Given the description of an element on the screen output the (x, y) to click on. 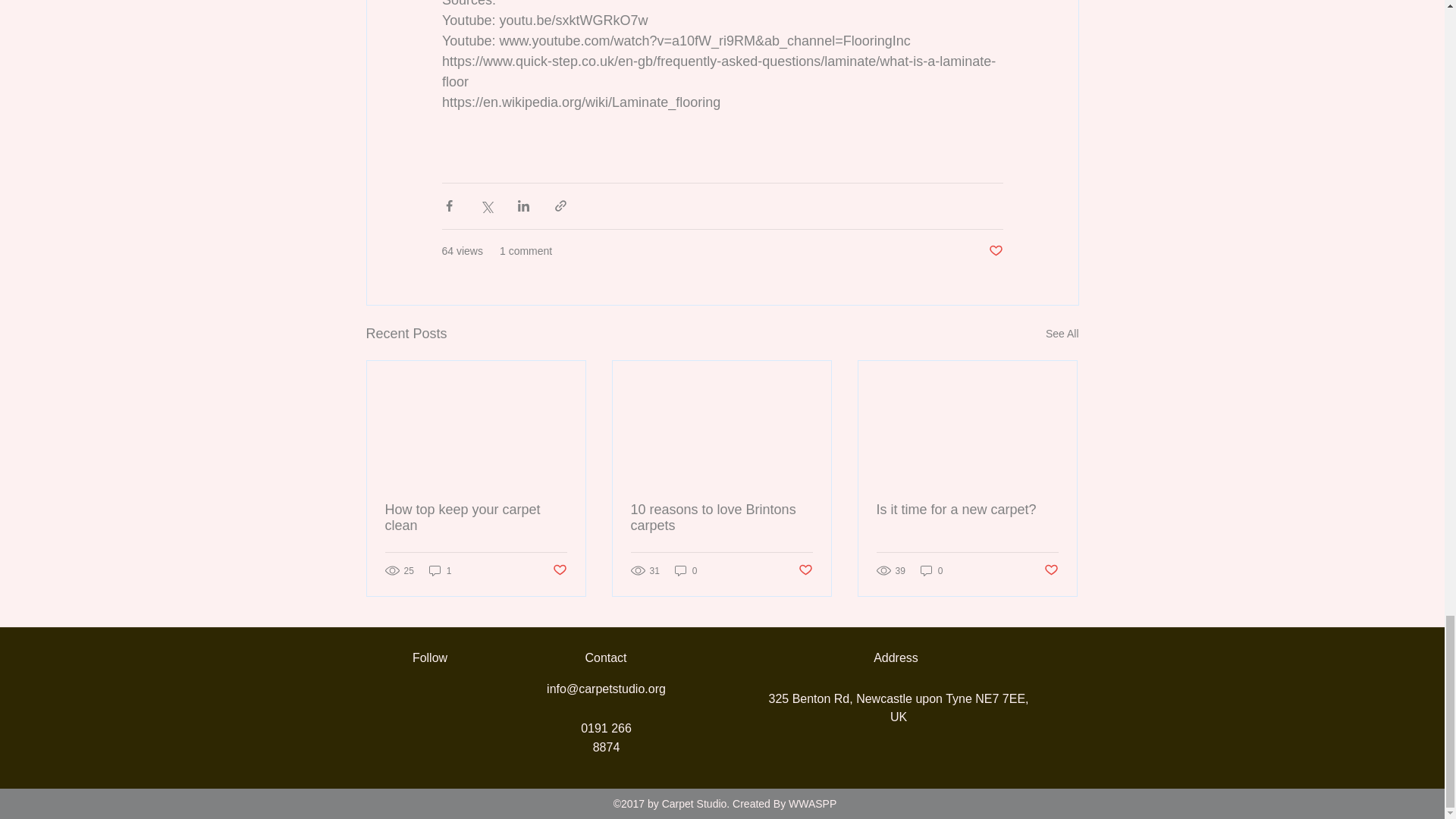
Post not marked as liked (995, 251)
Is it time for a new carpet? (967, 509)
Post not marked as liked (804, 570)
See All (1061, 333)
0 (931, 570)
Post not marked as liked (558, 570)
Post not marked as liked (1050, 570)
How top keep your carpet clean (476, 517)
10 reasons to love Brintons carpets (721, 517)
0 (685, 570)
1 (440, 570)
